Given the description of an element on the screen output the (x, y) to click on. 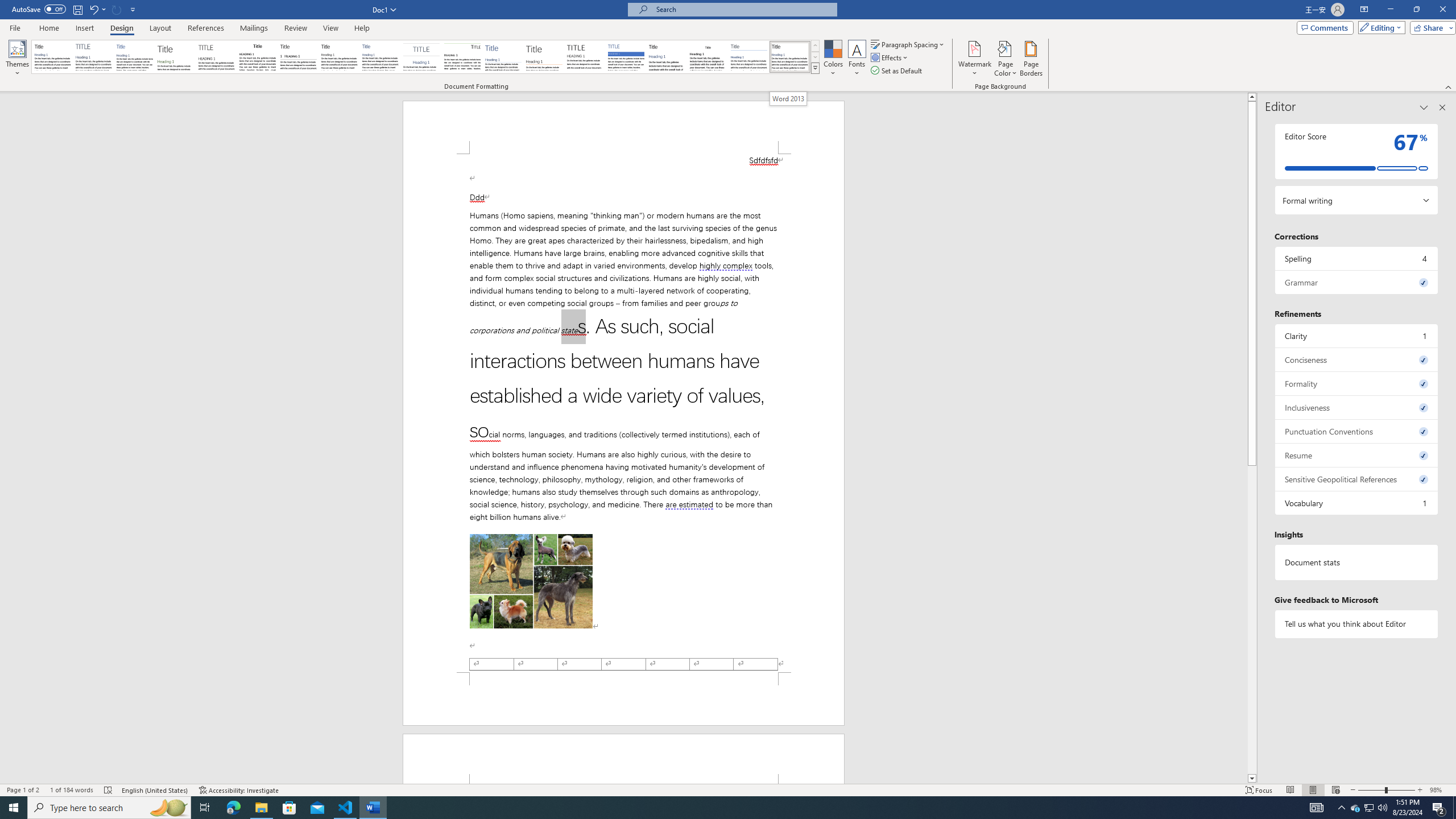
Word (666, 56)
Set as Default (897, 69)
Row Down (814, 56)
Lines (Simple) (503, 56)
Document statistics (1356, 561)
Header -Section 1- (623, 758)
Page Number Page 1 of 2 (22, 790)
Page 1 content (623, 412)
